Given the description of an element on the screen output the (x, y) to click on. 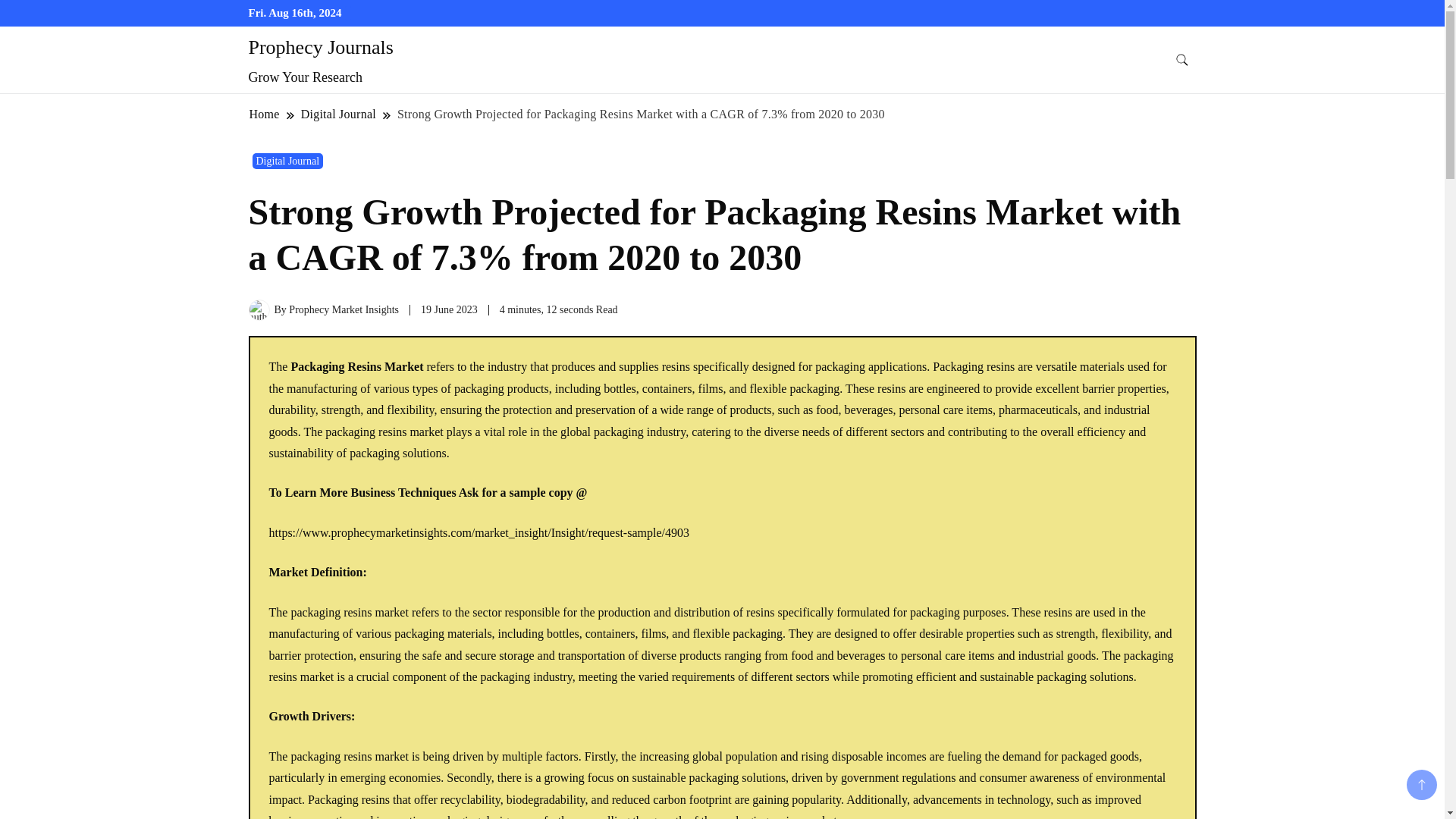
Digital Journal (287, 160)
Prophecy Journals (320, 47)
Packaging Resins Market (356, 366)
Home (264, 114)
Digital Journal (338, 114)
19 June 2023 (448, 309)
Prophecy Market Insights (343, 309)
